Given the description of an element on the screen output the (x, y) to click on. 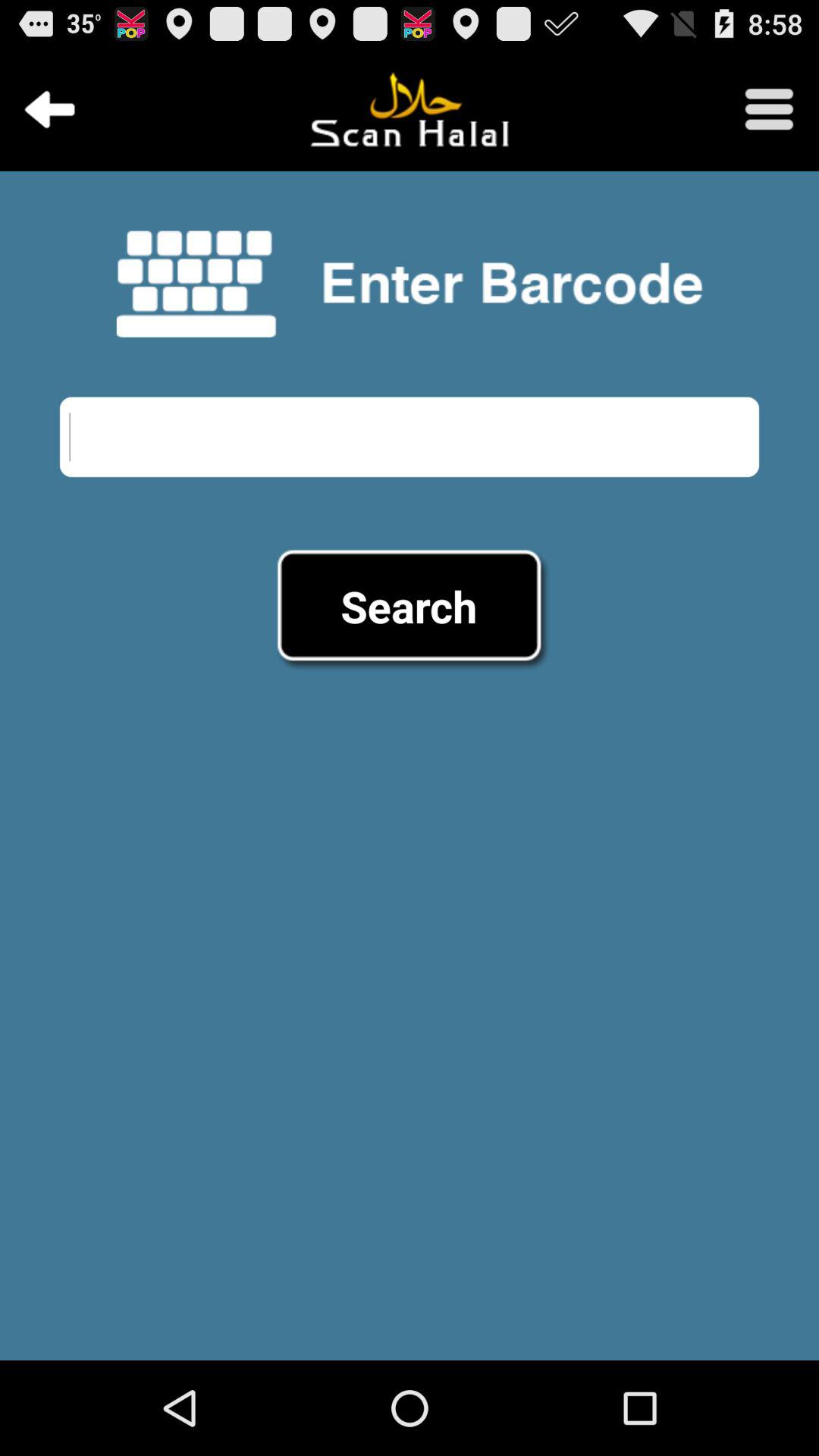
jump until the search item (408, 605)
